Given the description of an element on the screen output the (x, y) to click on. 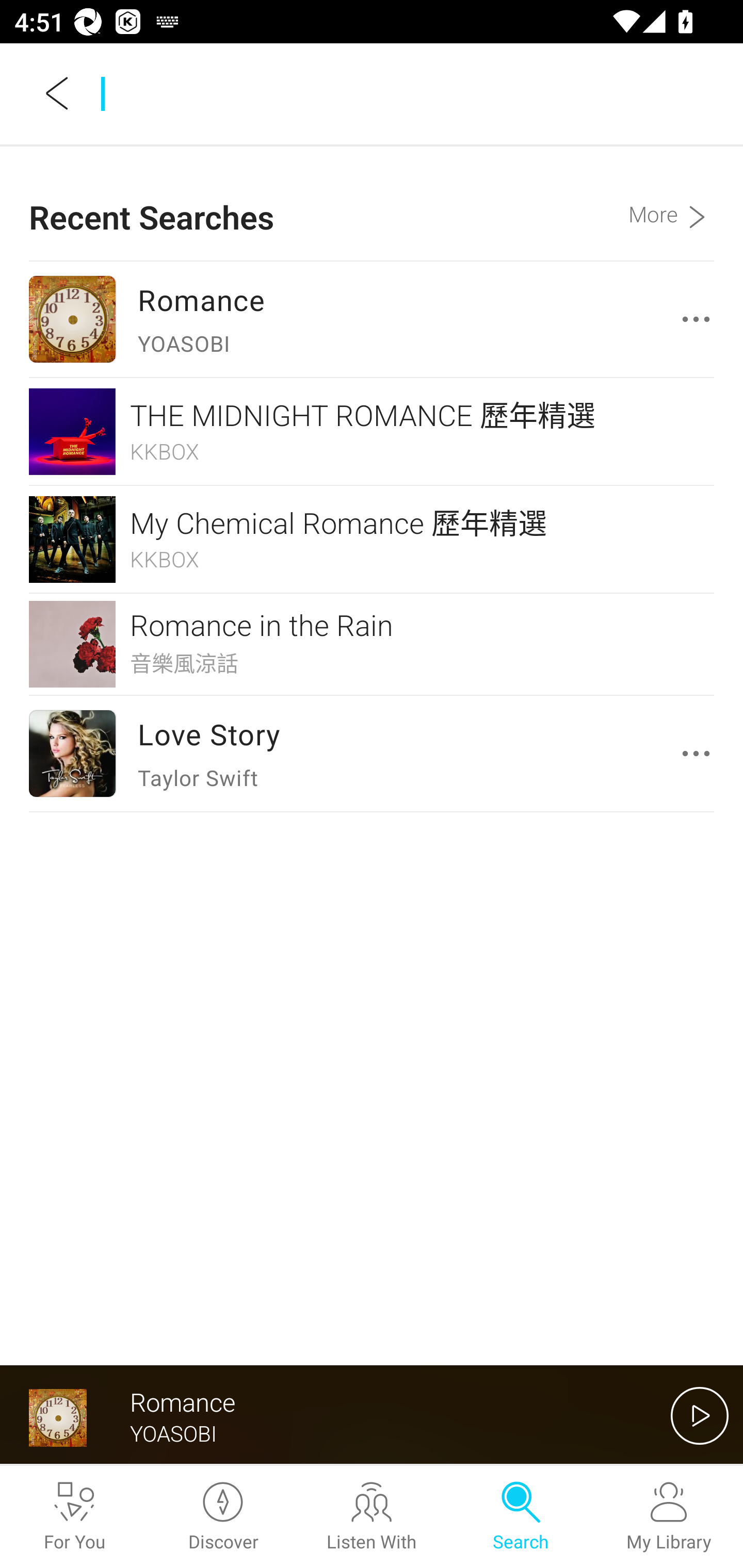
Back,outside of the list (57, 93)
More Recent Searches More (671, 202)
Romance YOASOBI 更多操作選項 (371, 318)
更多操作選項 (699, 318)
THE MIDNIGHT ROMANCE 歷年精選 KKBOX (371, 430)
My Chemical Romance 歷年精選 KKBOX (371, 539)
Romance in the Rain 音樂風涼話 (371, 644)
Love Story Taylor Swift 更多操作選項 (371, 753)
更多操作選項 (699, 753)
開始播放 (699, 1415)
For You (74, 1517)
Discover (222, 1517)
Listen With (371, 1517)
Search (519, 1517)
My Library (668, 1517)
